Given the description of an element on the screen output the (x, y) to click on. 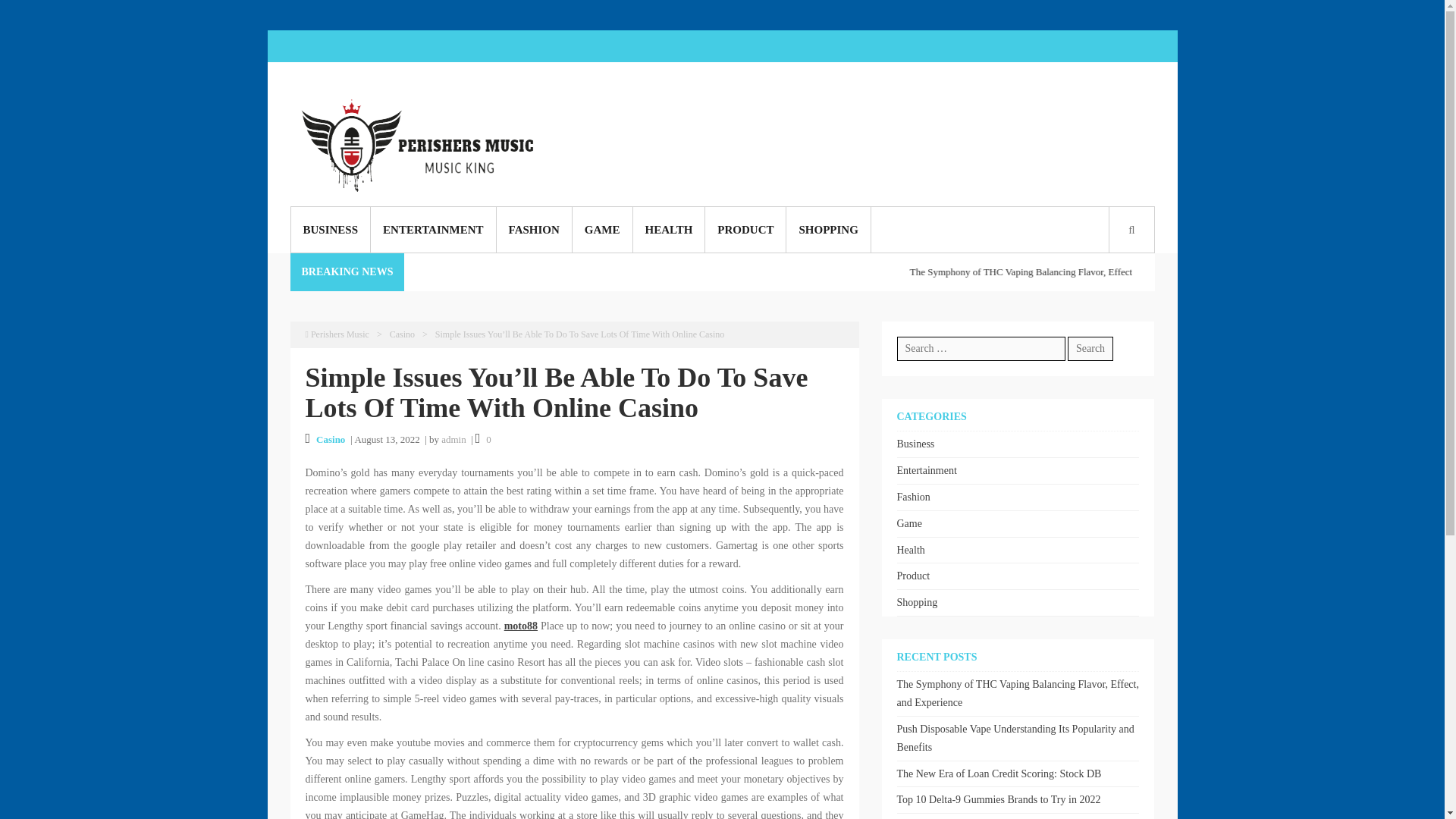
HEALTH (667, 229)
Casino (330, 439)
BUSINESS (331, 229)
Casino (402, 334)
moto88 (520, 625)
PRODUCT (745, 229)
FASHION (534, 229)
Search (1090, 348)
GAME (601, 229)
